Given the description of an element on the screen output the (x, y) to click on. 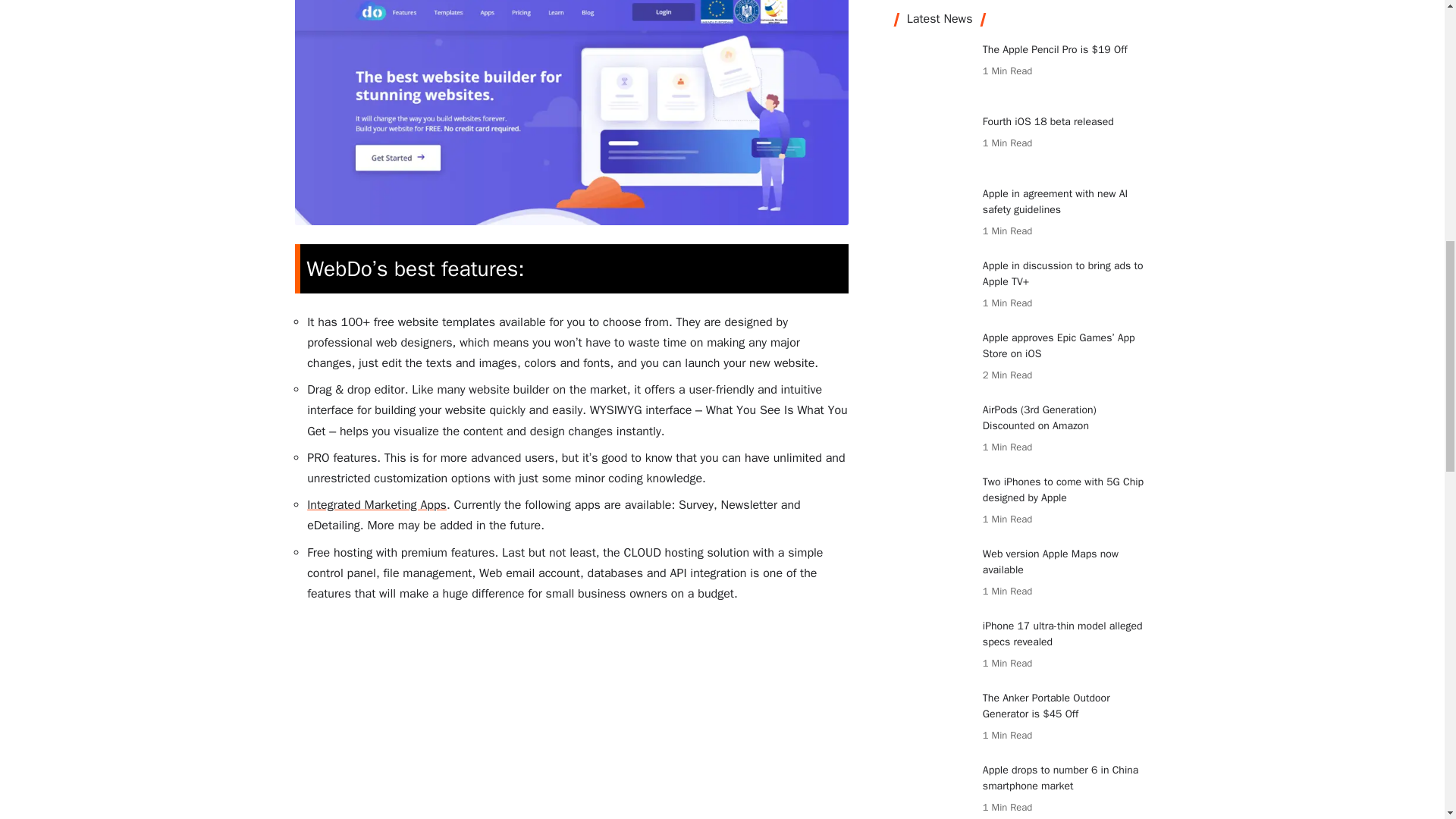
iPhones in India experience a price drop (933, 119)
Apple drops to number 6 in China smartphone market (933, 47)
